Given the description of an element on the screen output the (x, y) to click on. 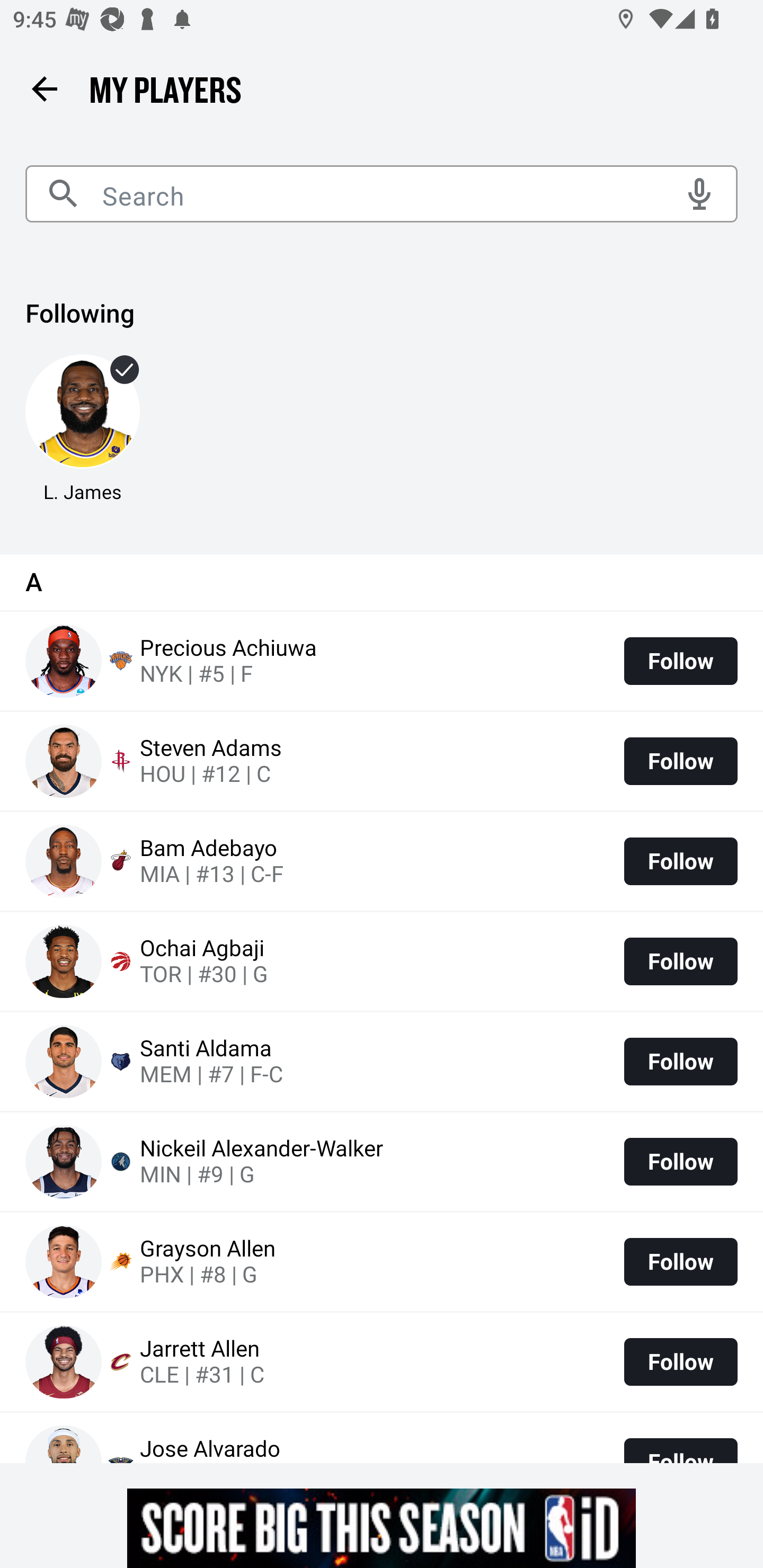
Back button (44, 88)
Search (381, 193)
Follow (680, 660)
Follow (680, 760)
Follow (680, 861)
Follow (680, 961)
Follow (680, 1061)
Follow (680, 1161)
Follow (680, 1261)
Follow (680, 1361)
g5nqqygr7owph (381, 1528)
